Given the description of an element on the screen output the (x, y) to click on. 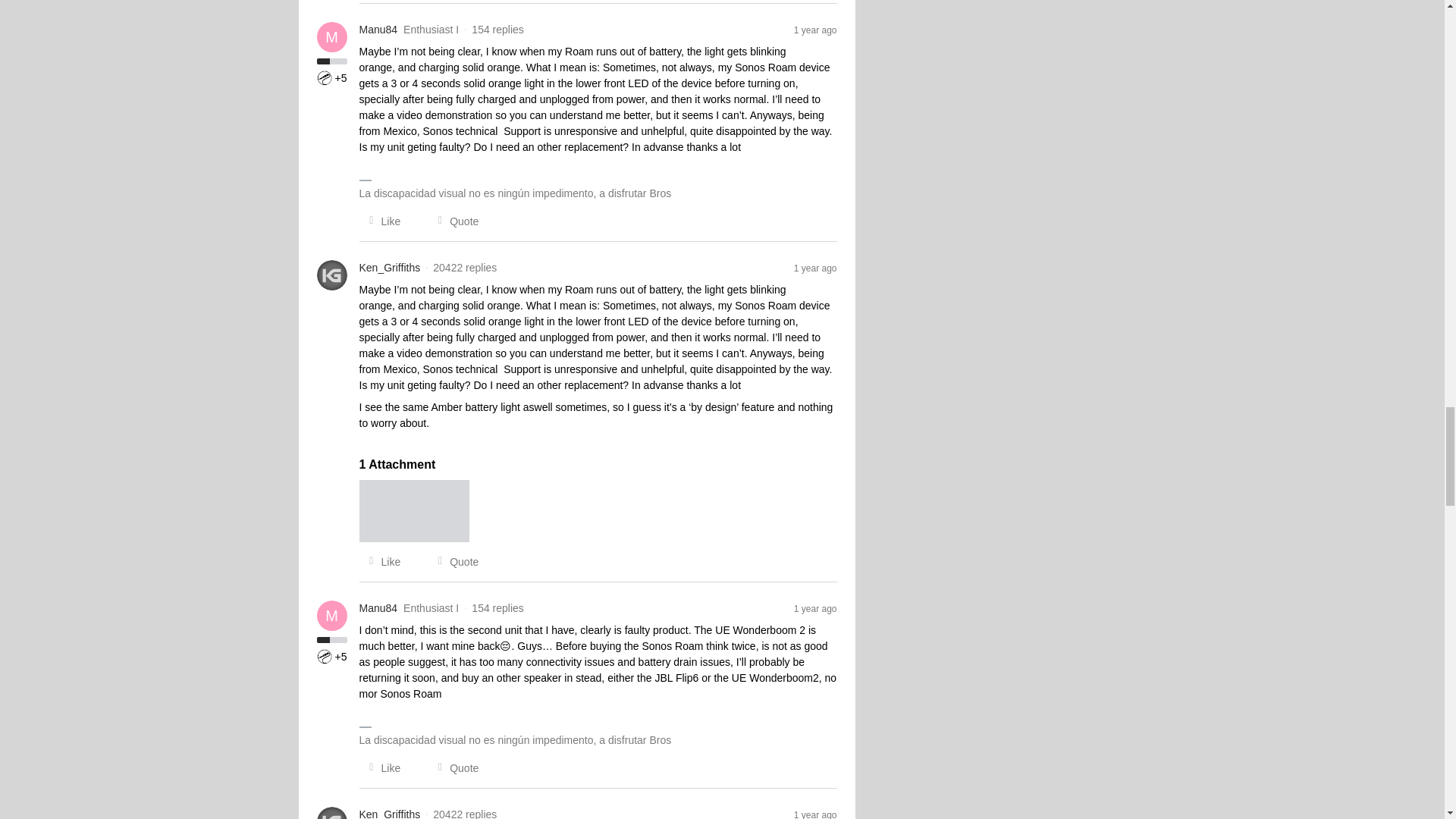
Amping it up I (324, 77)
Manu84 (378, 29)
